Given the description of an element on the screen output the (x, y) to click on. 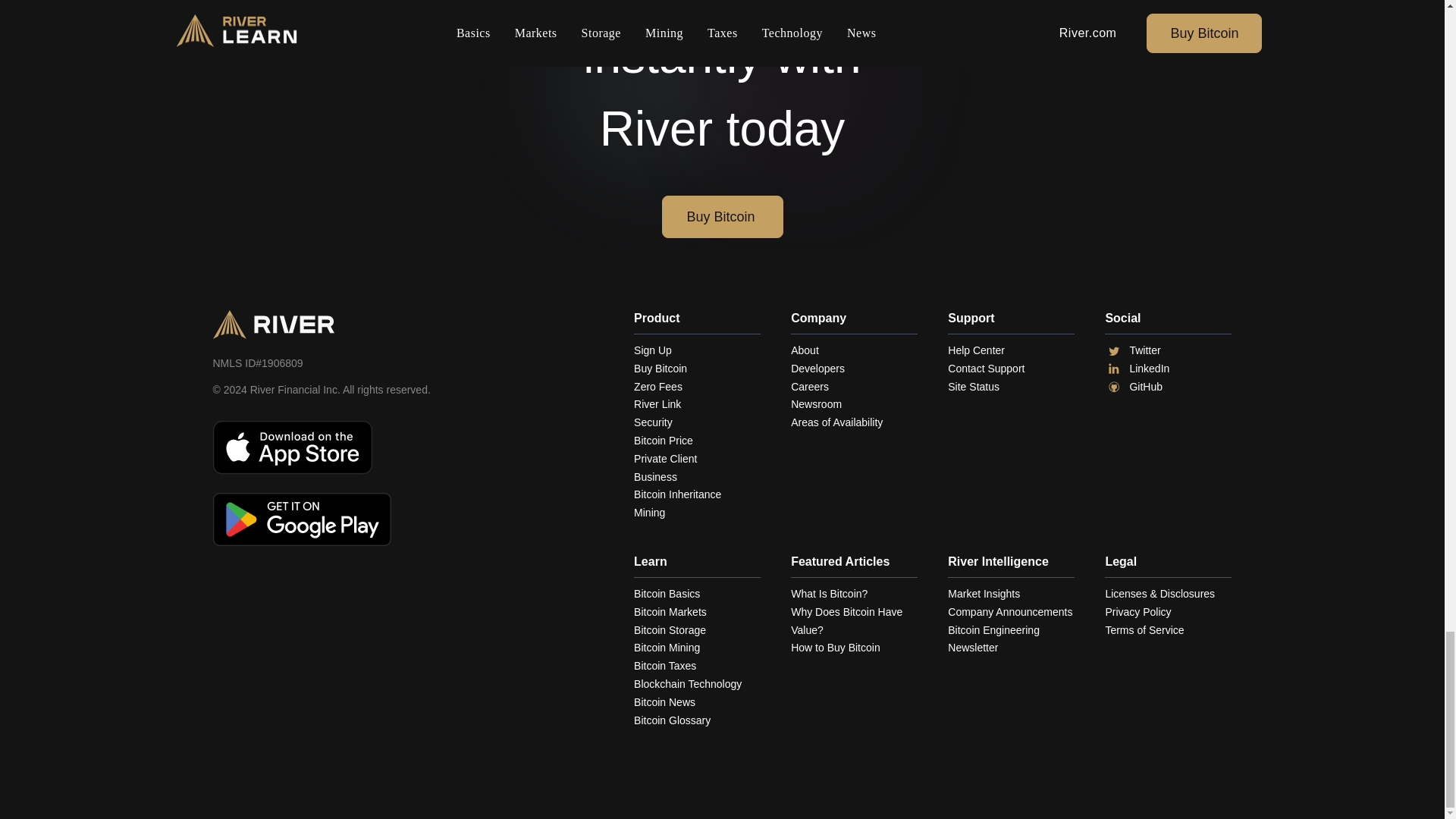
Zero Fees (696, 387)
Business (696, 477)
About (853, 351)
River Link (696, 404)
Buy Bitcoin (722, 216)
Security (696, 423)
Mining (696, 513)
Private Client (696, 459)
Bitcoin Inheritance (696, 495)
Bitcoin Price (696, 441)
Buy Bitcoin (696, 369)
Sign Up (696, 351)
